Given the description of an element on the screen output the (x, y) to click on. 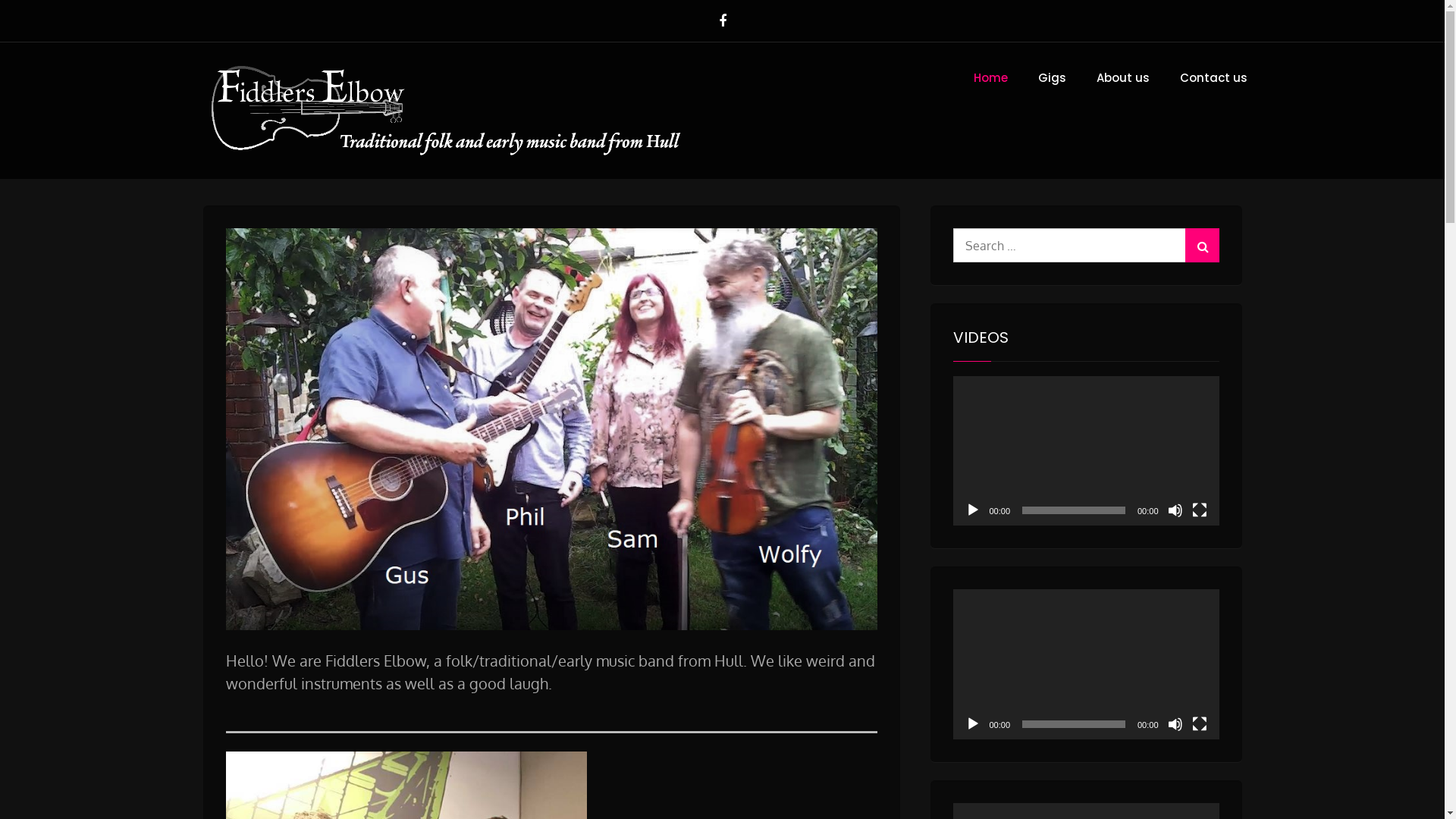
Contact us Element type: text (1213, 78)
Fiddlers Elbow Element type: text (781, 123)
Mute Element type: hover (1175, 723)
Fullscreen Element type: hover (1199, 509)
About us Element type: text (1122, 78)
Mute Element type: hover (1175, 509)
Play Element type: hover (971, 509)
Gigs Element type: text (1051, 78)
Play Element type: hover (971, 723)
Home Element type: text (990, 78)
Fullscreen Element type: hover (1199, 723)
Search for: Element type: hover (1085, 245)
